Given the description of an element on the screen output the (x, y) to click on. 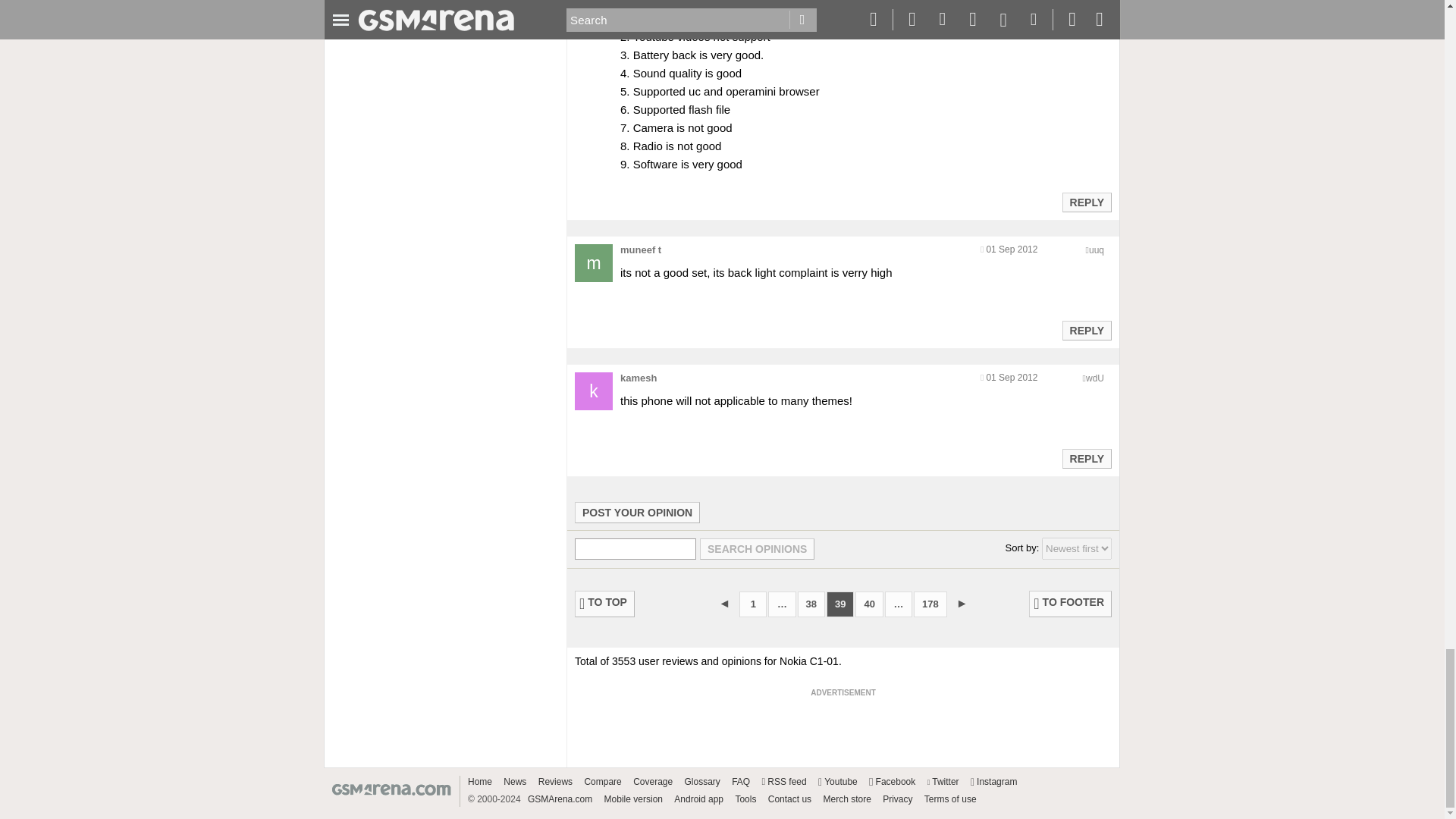
TO TOP (604, 603)
Search opinions (756, 548)
